Given the description of an element on the screen output the (x, y) to click on. 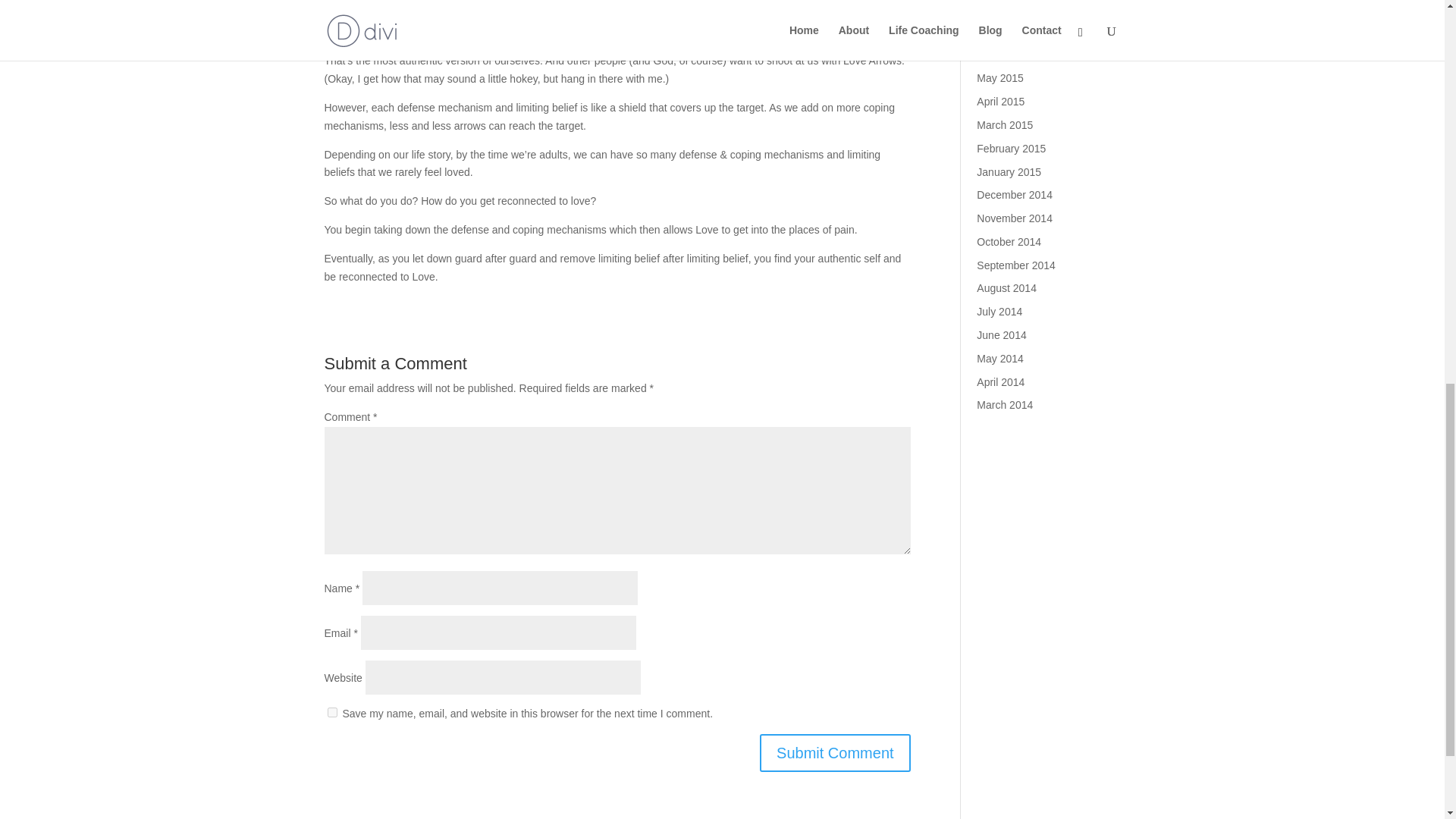
August 2015 (1006, 8)
May 2015 (999, 78)
June 2015 (1001, 55)
yes (332, 712)
July 2015 (999, 31)
Submit Comment (835, 752)
Submit Comment (835, 752)
